Given the description of an element on the screen output the (x, y) to click on. 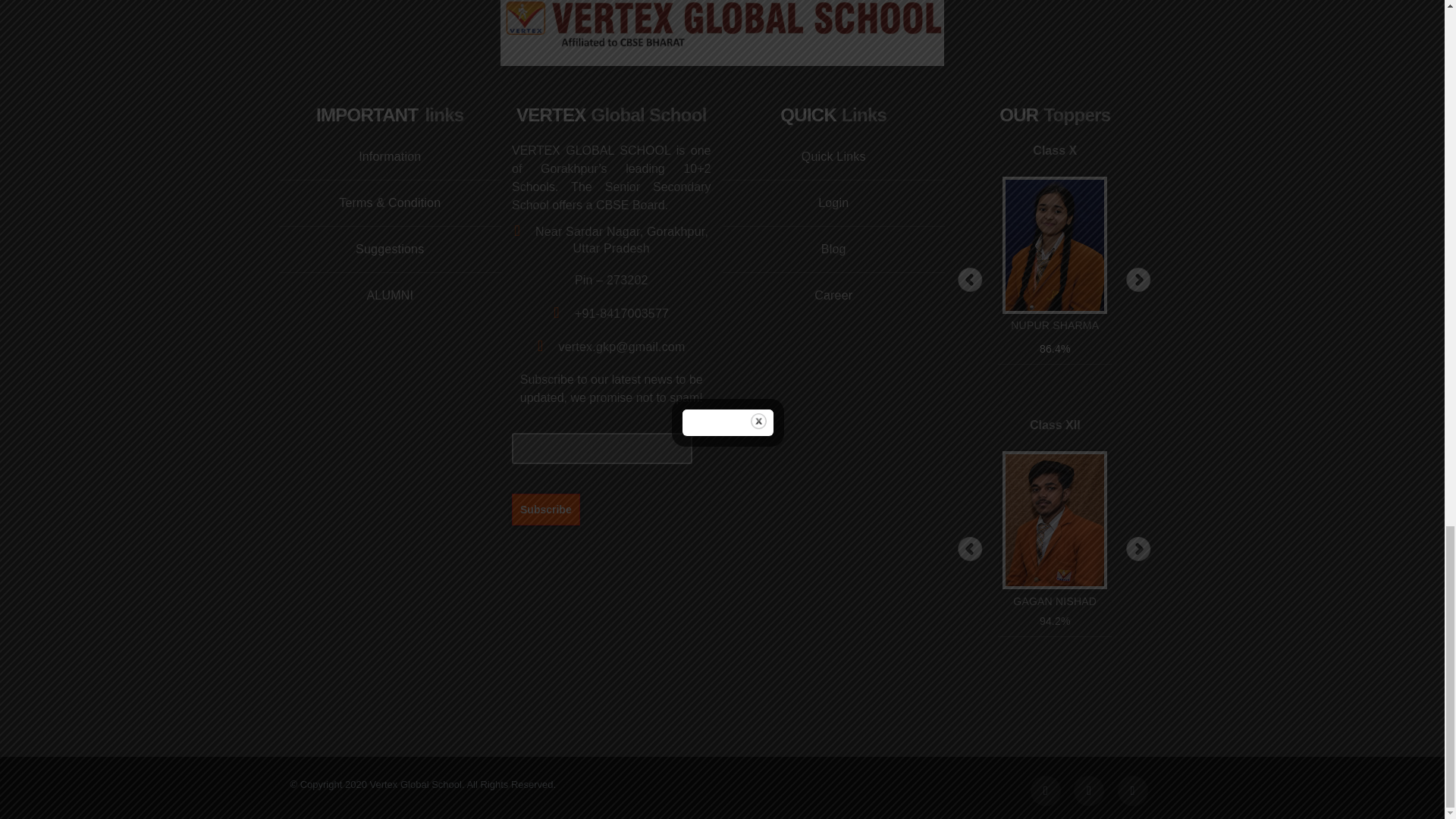
Subscribe (545, 508)
